Given the description of an element on the screen output the (x, y) to click on. 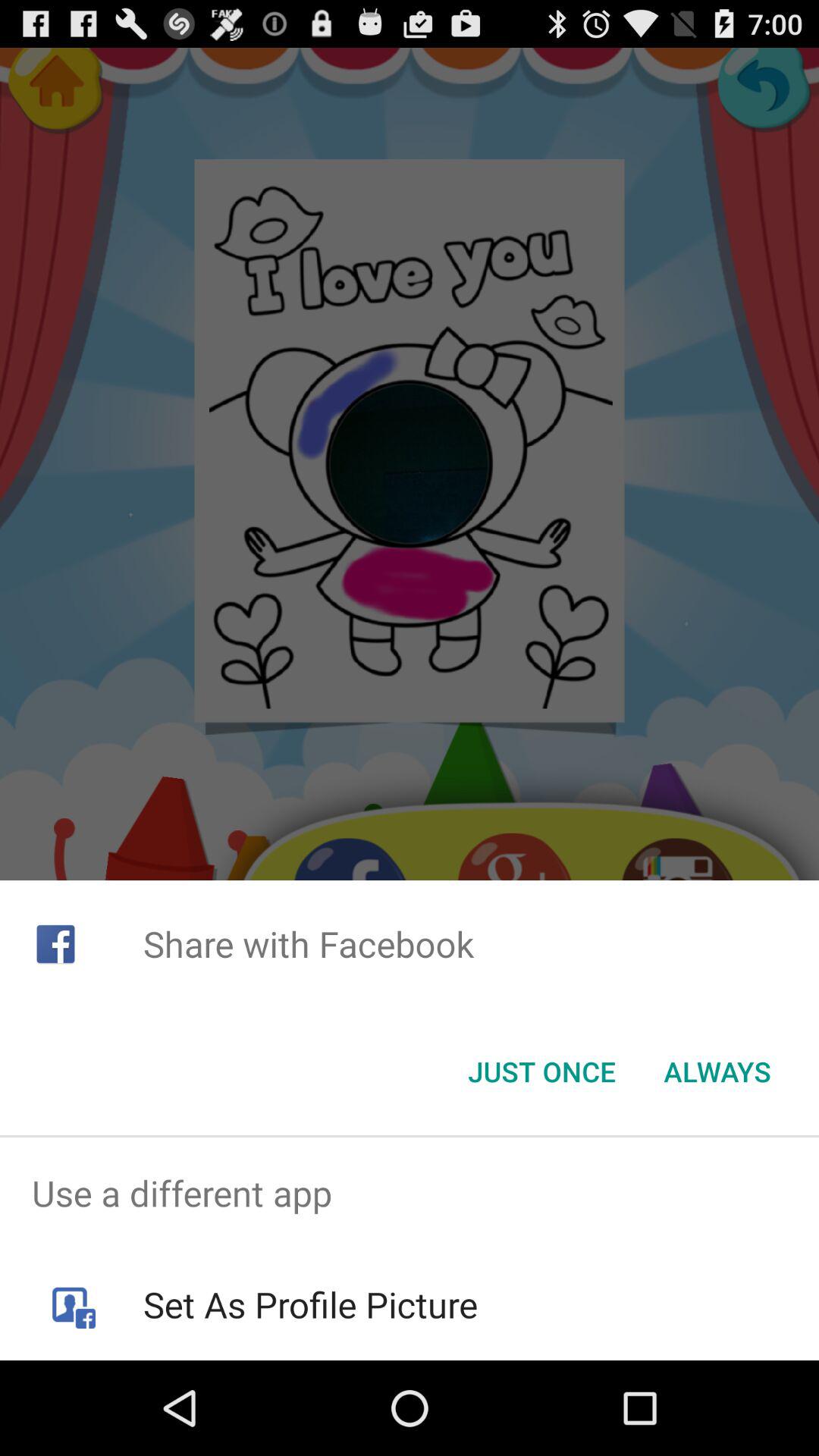
choose the just once button (541, 1071)
